Given the description of an element on the screen output the (x, y) to click on. 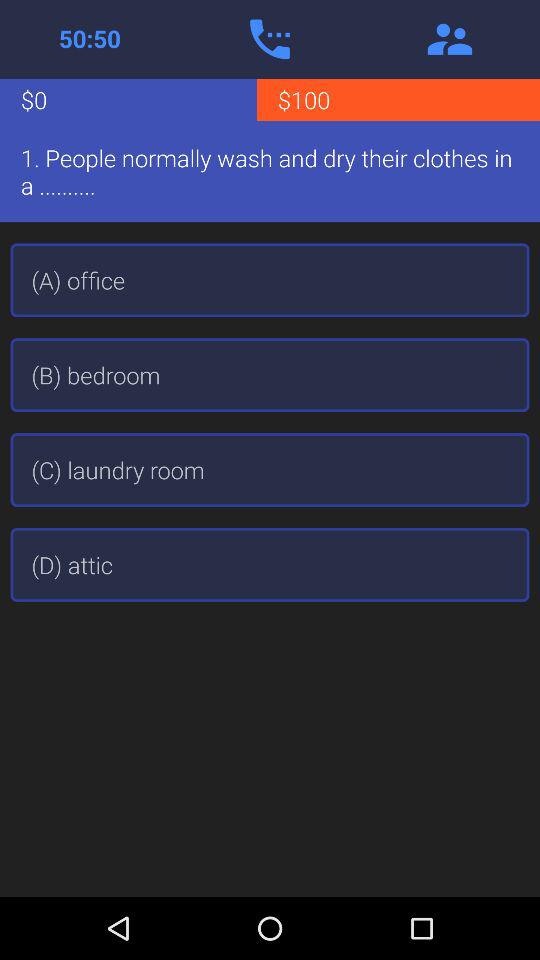
launch item below 1 people normally (269, 280)
